Given the description of an element on the screen output the (x, y) to click on. 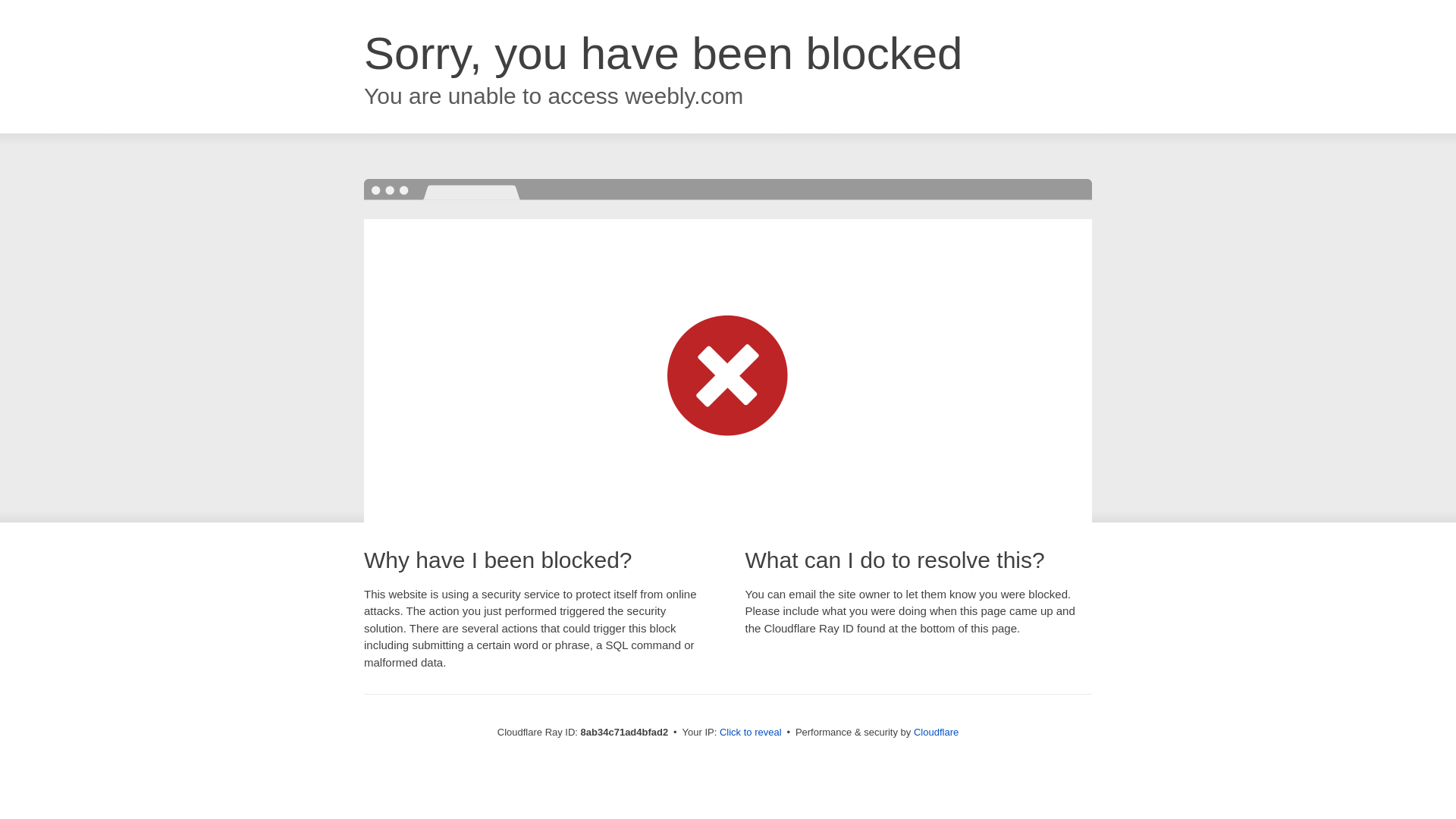
Click to reveal (750, 732)
Cloudflare (936, 731)
